Given the description of an element on the screen output the (x, y) to click on. 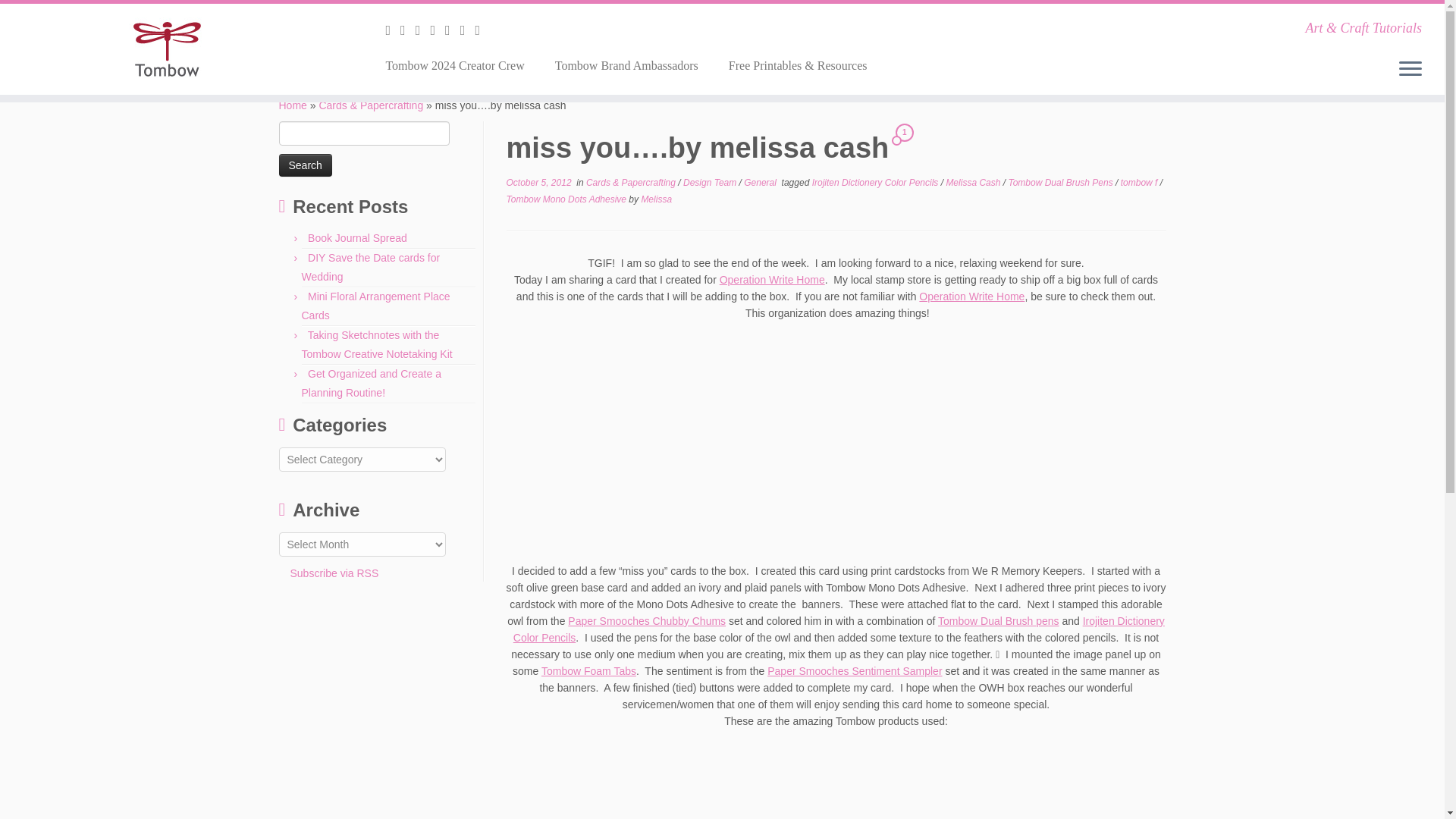
Tombow Brand Ambassadors (626, 65)
Search (305, 164)
Operation Write Home (971, 296)
Follow me on Twitter (407, 29)
Pin me on Pinterest (481, 29)
Melissa (655, 199)
Open the menu (1410, 69)
Home (293, 105)
Follow me on Facebook (422, 29)
DIY Save the Date cards for Wedding (371, 266)
